Given the description of an element on the screen output the (x, y) to click on. 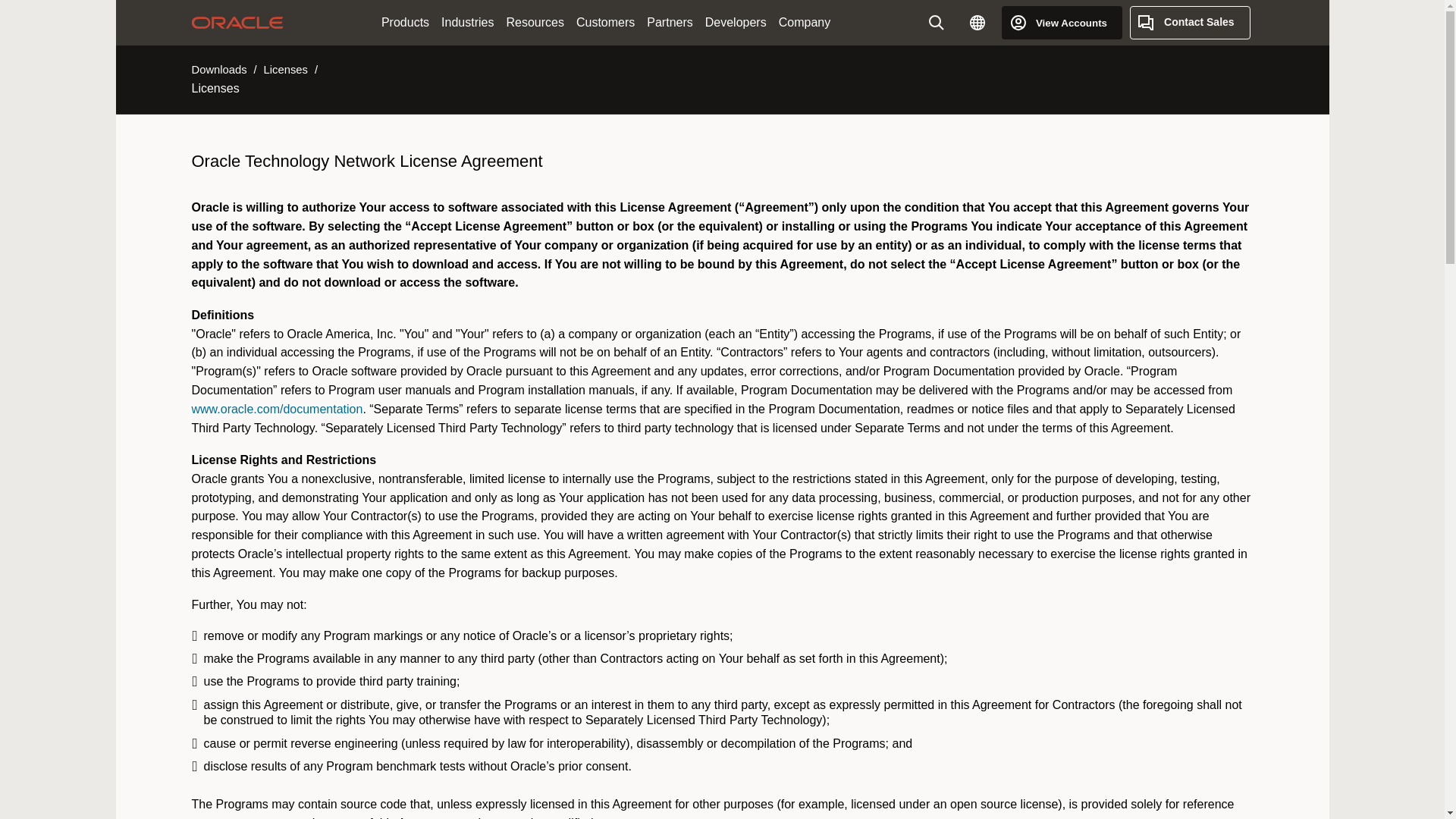
Developers (735, 22)
Licenses (285, 69)
Customers (605, 22)
Partners (669, 22)
Industries (467, 22)
View Accounts (1061, 22)
Company (804, 22)
Country (977, 22)
Downloads (218, 69)
Contact Sales (1189, 22)
